Given the description of an element on the screen output the (x, y) to click on. 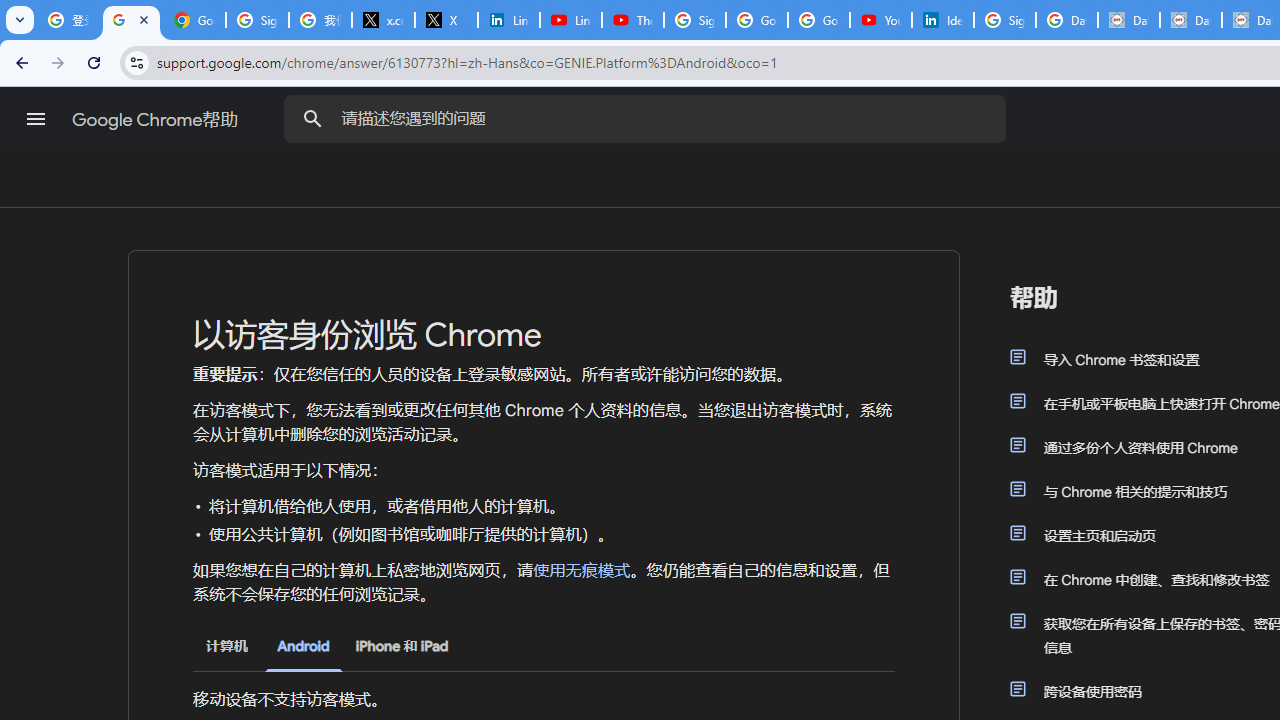
Data Privacy Framework (1128, 20)
Sign in - Google Accounts (257, 20)
X (445, 20)
